Given the description of an element on the screen output the (x, y) to click on. 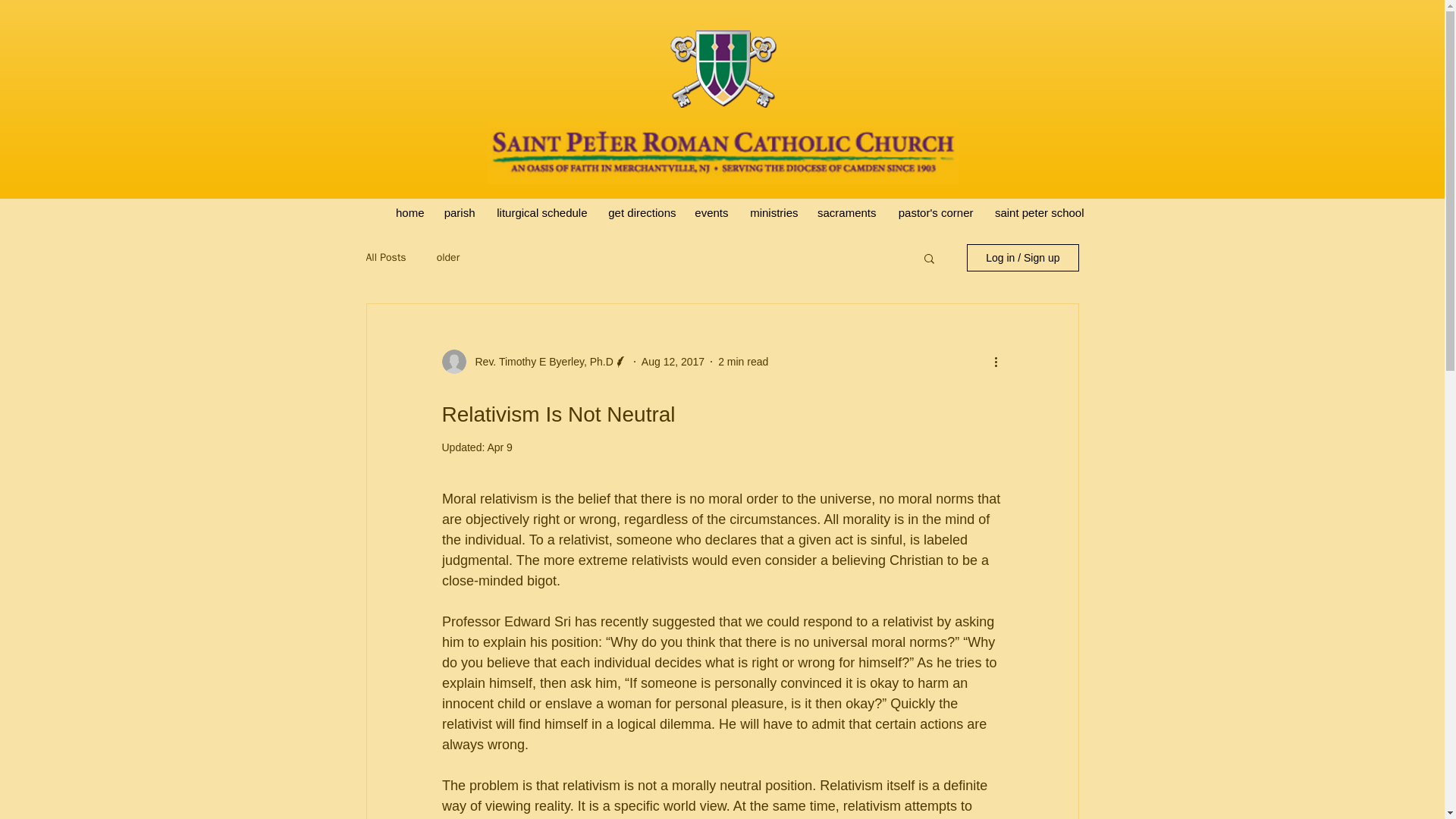
2 min read (742, 360)
Aug 12, 2017 (673, 360)
All Posts (385, 257)
older (448, 257)
parish (458, 212)
Apr 9 (499, 447)
sacraments (845, 212)
get directions (639, 212)
events (711, 212)
home (409, 212)
liturgical schedule (539, 212)
saint peter school (1037, 212)
pastor's corner (933, 212)
ministries (771, 212)
Rev. Timothy E Byerley, Ph.D (538, 360)
